Given the description of an element on the screen output the (x, y) to click on. 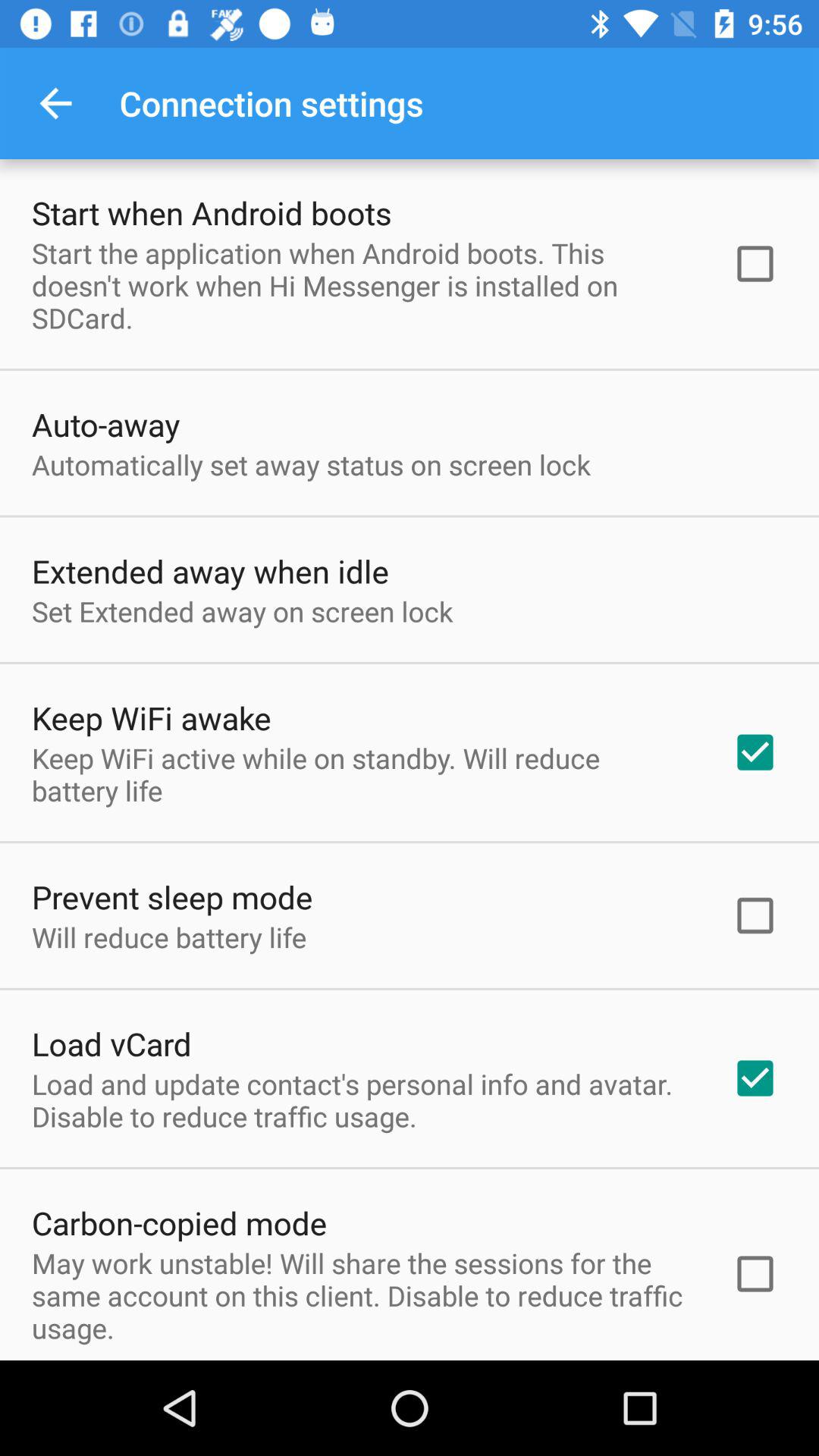
choose prevent sleep mode (171, 896)
